Given the description of an element on the screen output the (x, y) to click on. 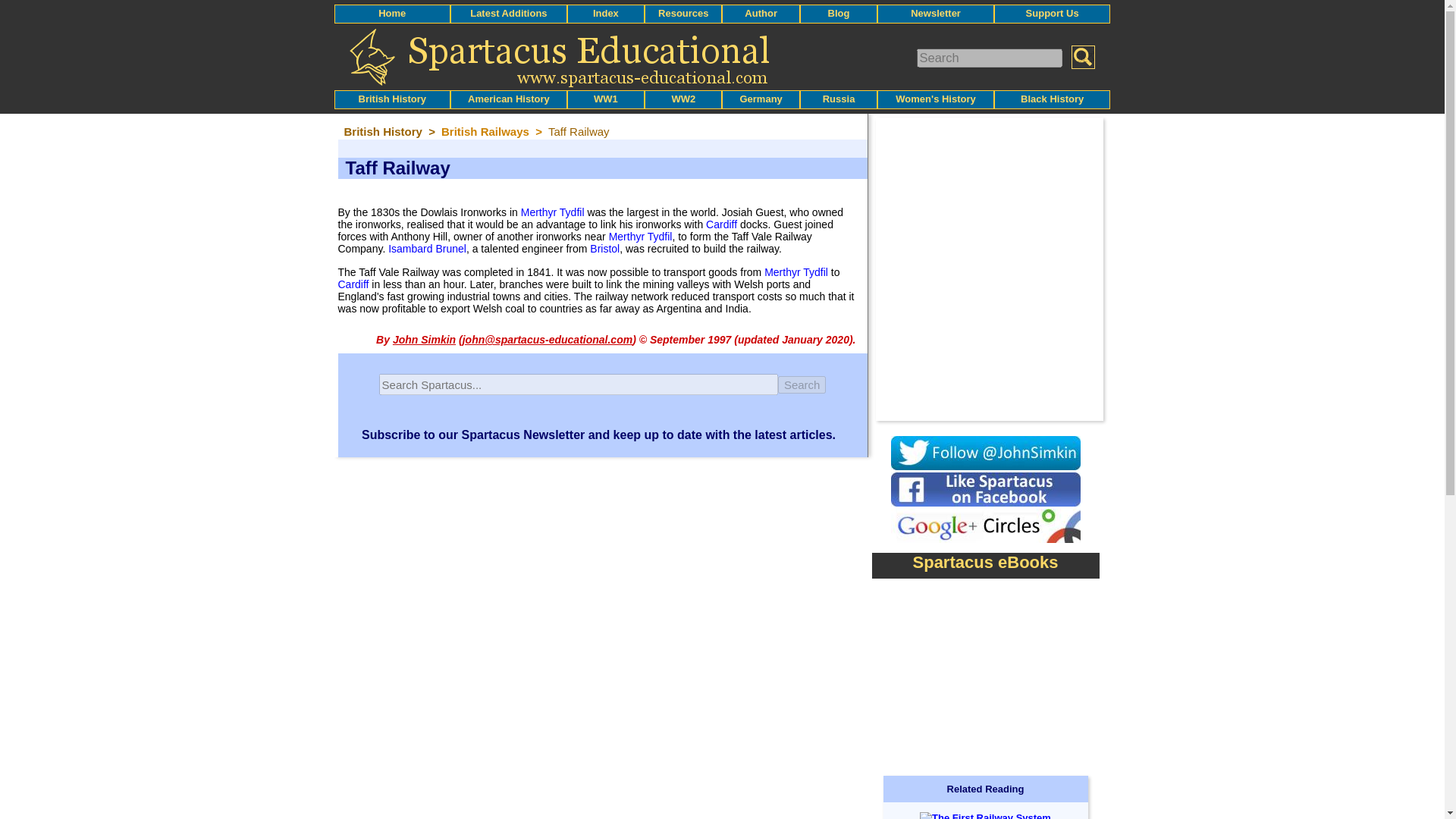
Newsletter (935, 12)
Merthyr Tydfil (640, 236)
Merthyr Tydfil (553, 212)
American History (508, 98)
Black History (1051, 98)
Author (760, 12)
Resources (682, 12)
Cardiff (721, 224)
Russia (839, 98)
Germany (760, 98)
Cardiff (353, 284)
Bristol (604, 248)
Support Us (1052, 12)
Search (802, 384)
Merthyr Tydfil (796, 272)
